Given the description of an element on the screen output the (x, y) to click on. 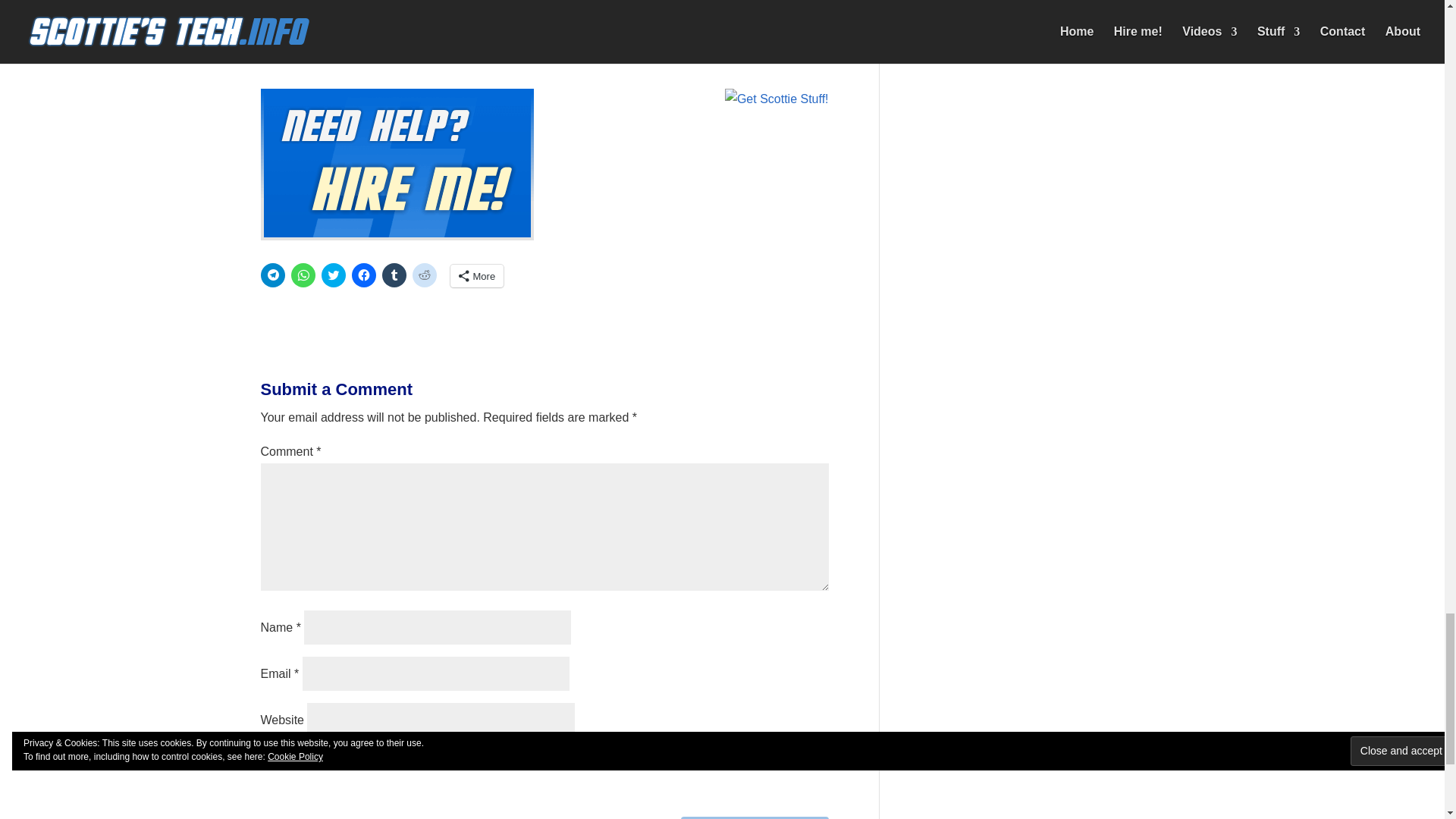
subscribe (268, 758)
Click to share on Twitter (333, 274)
Submit Comment (754, 817)
How to install git and gitk on Bash on Ubuntu on Windows 10 (580, 11)
Get Scottie Stuff! (776, 99)
Click to share on Facebook (363, 274)
Click to share on Telegram (272, 274)
More (476, 275)
Click to share on WhatsApp (303, 274)
Get Scottie Support! (397, 164)
